Given the description of an element on the screen output the (x, y) to click on. 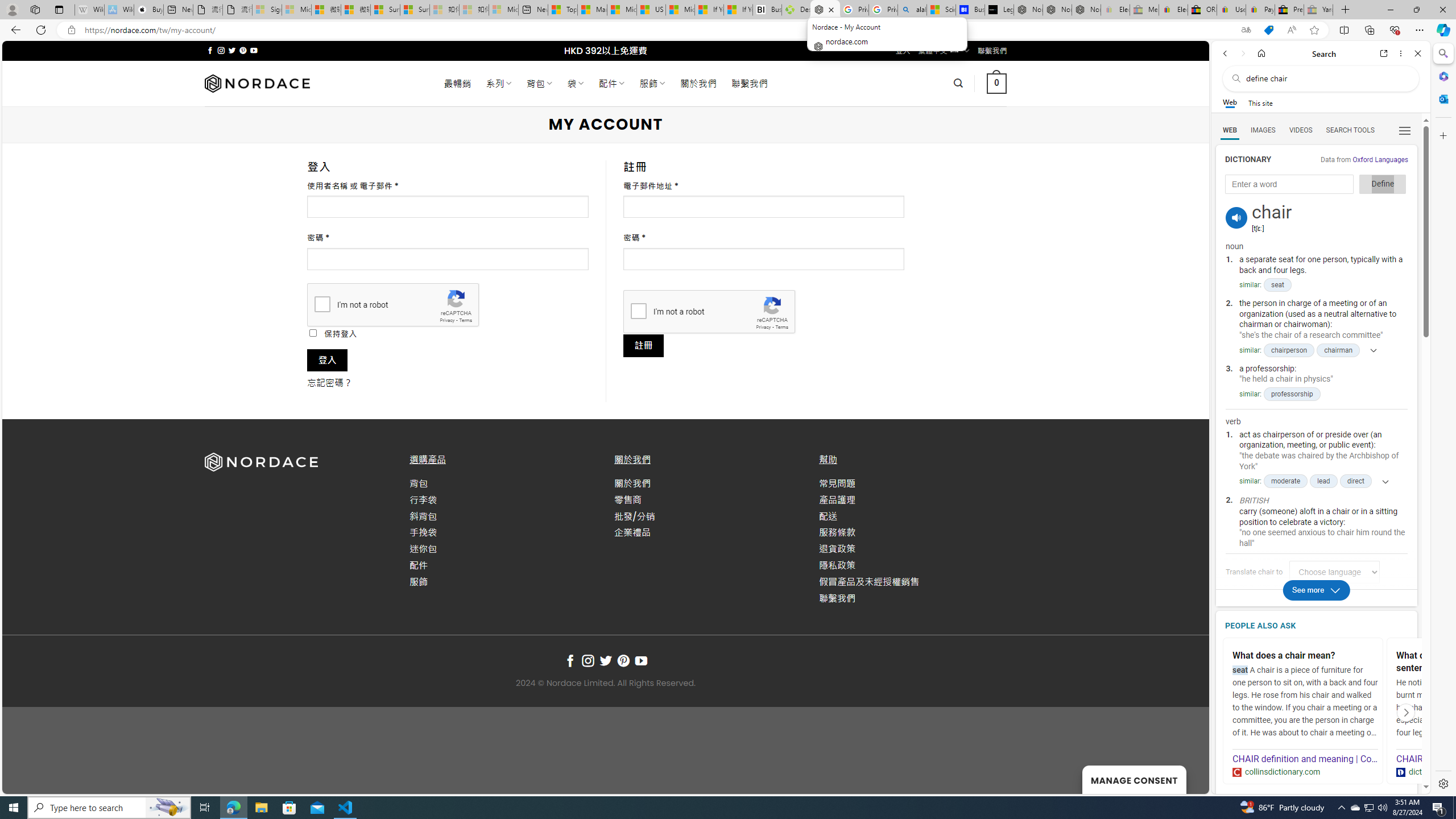
Oxford Languages (1379, 159)
moderate (1285, 481)
MANAGE CONSENT (1133, 779)
direct (1355, 481)
